Given the description of an element on the screen output the (x, y) to click on. 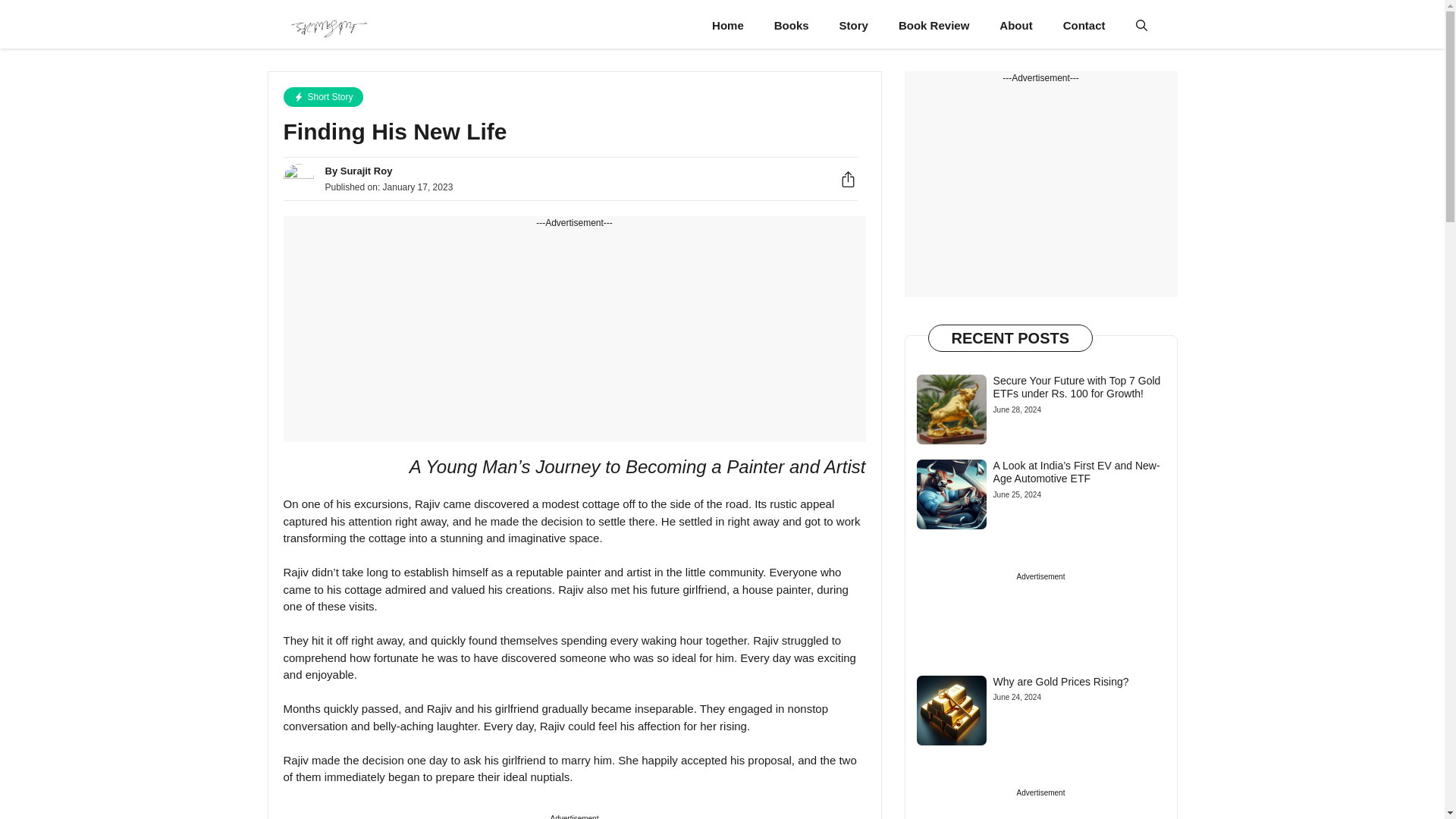
Advertisement (1039, 610)
Book Review (933, 25)
Short Story (322, 96)
Advertisement (574, 336)
About (1015, 25)
Story (853, 25)
Surajit Roy (327, 25)
Advertisement (1039, 813)
Books (791, 25)
Why are Gold Prices Rising? (1060, 681)
Home (727, 25)
Surajit Roy (366, 170)
Advertisement (1040, 191)
Contact (1084, 25)
